Given the description of an element on the screen output the (x, y) to click on. 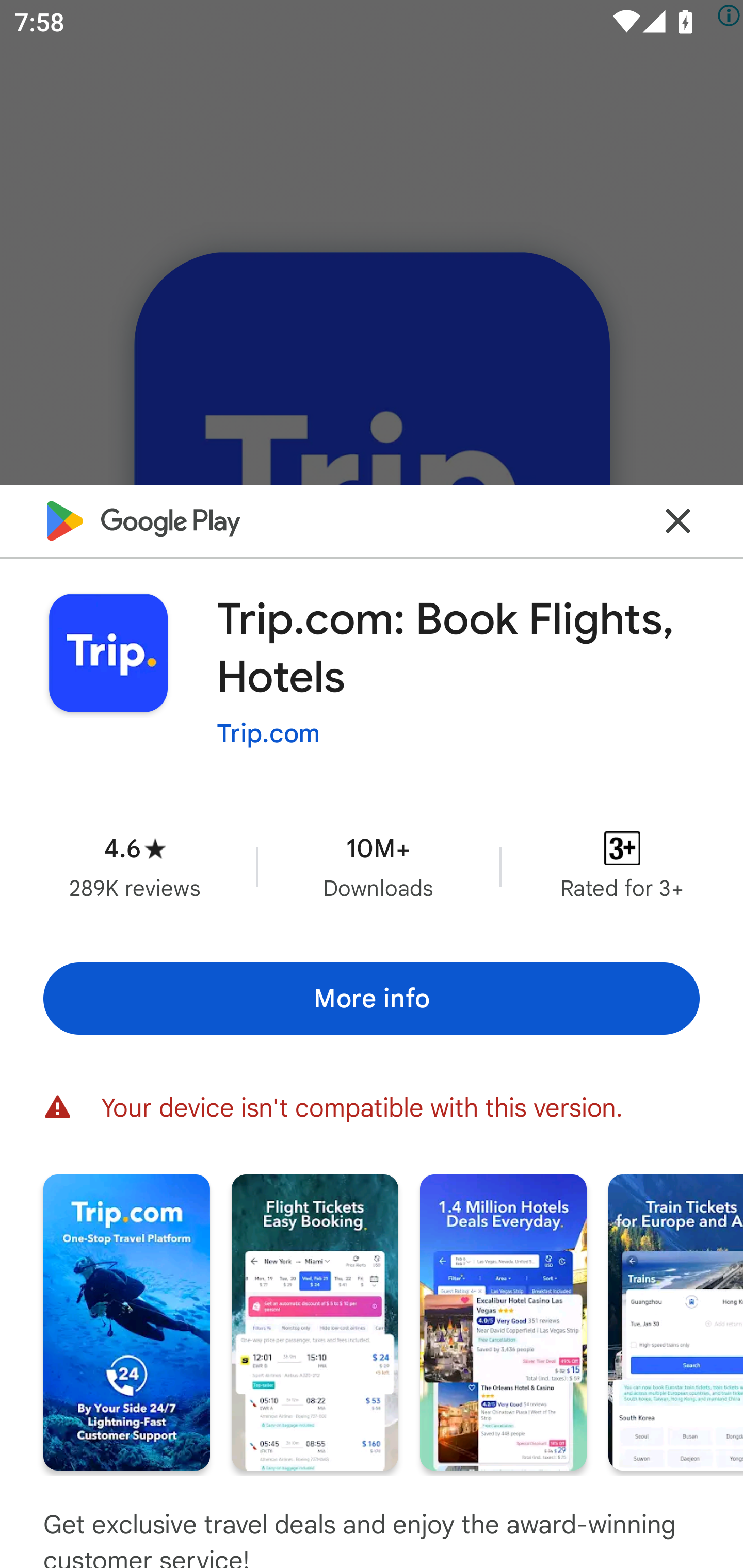
Close (677, 520)
Trip.com (268, 732)
More info (371, 998)
Screenshot "1" of "8" (126, 1322)
Screenshot "2" of "8" (314, 1322)
Screenshot "3" of "8" (502, 1322)
Screenshot "4" of "8" (675, 1322)
